Given the description of an element on the screen output the (x, y) to click on. 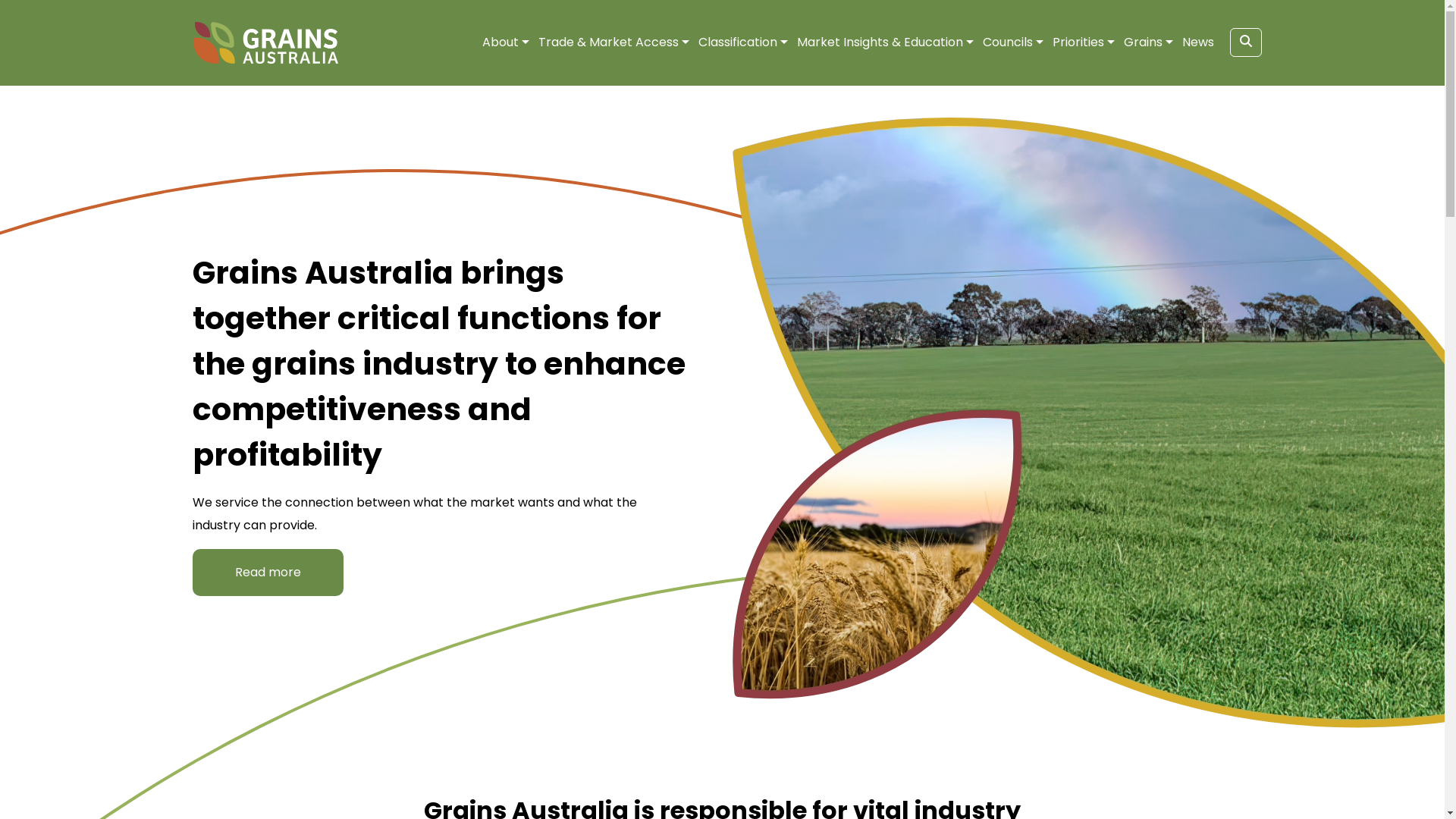
Councils Element type: text (1007, 42)
Classification Element type: text (736, 42)
Read more Element type: text (267, 572)
Priorities Element type: text (1078, 42)
Grains Element type: text (1142, 42)
News Element type: text (1197, 42)
Market Insights & Education Element type: text (879, 42)
About Element type: text (500, 42)
Trade & Market Access Element type: text (608, 42)
Search Element type: text (1245, 42)
